Given the description of an element on the screen output the (x, y) to click on. 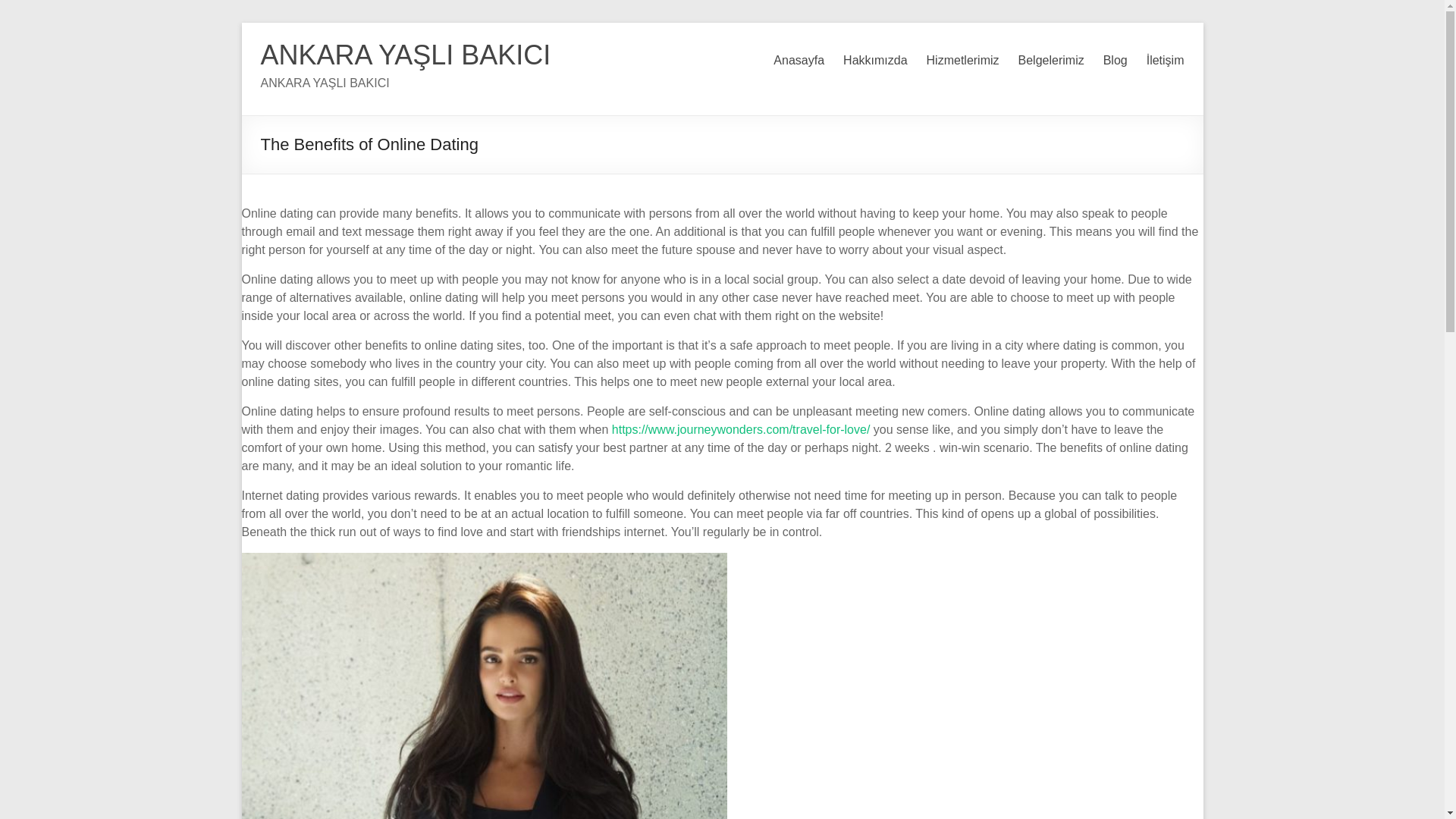
Belgelerimiz (1050, 60)
Anasayfa (798, 60)
Hizmetlerimiz (962, 60)
Blog (1114, 60)
